Given the description of an element on the screen output the (x, y) to click on. 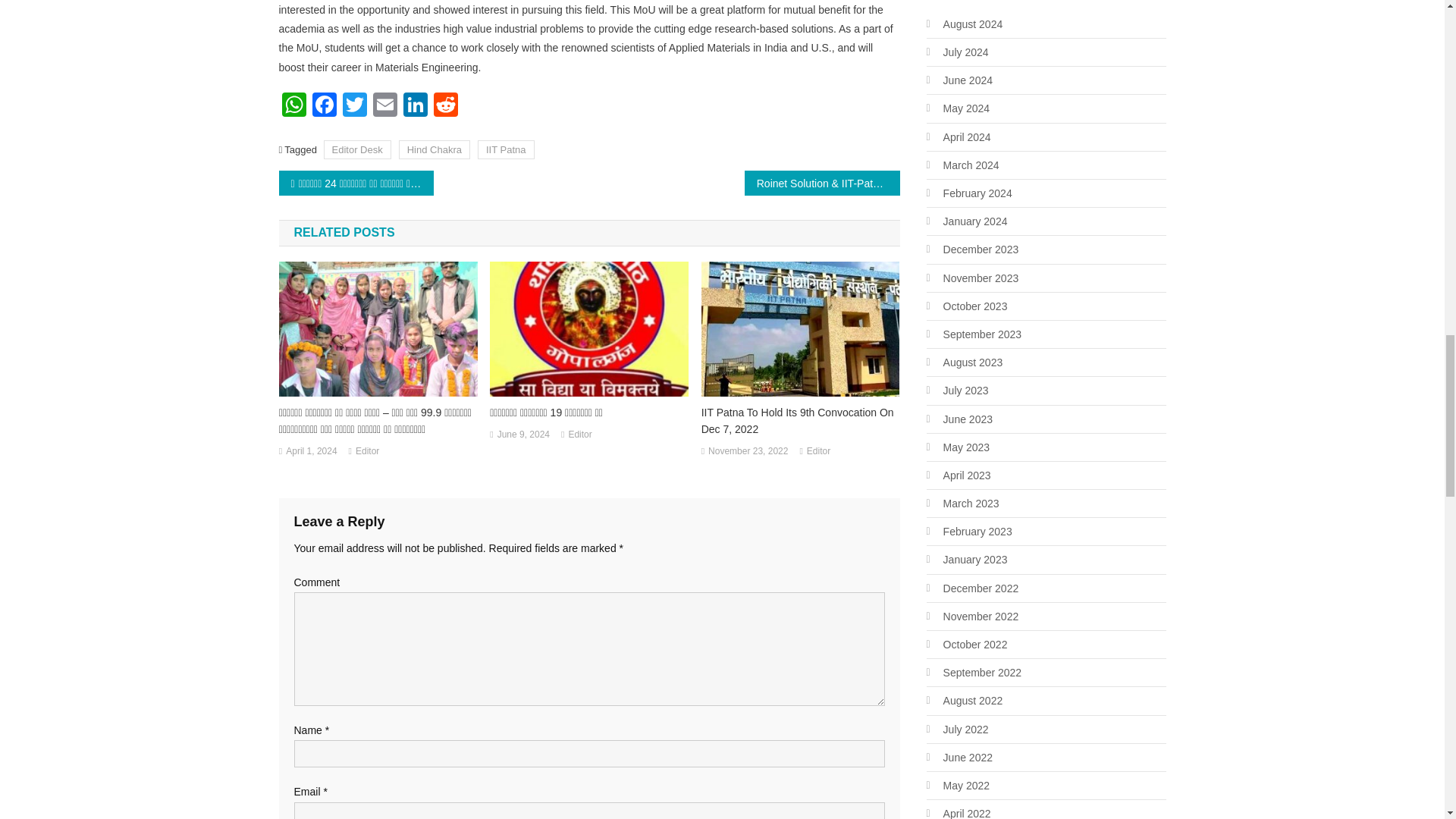
Facebook (323, 106)
Hind Chakra (434, 149)
Editor Desk (357, 149)
Editor (579, 434)
Twitter (354, 106)
Twitter (354, 106)
WhatsApp (293, 106)
June 9, 2024 (523, 434)
Editor (366, 451)
WhatsApp (293, 106)
